Given the description of an element on the screen output the (x, y) to click on. 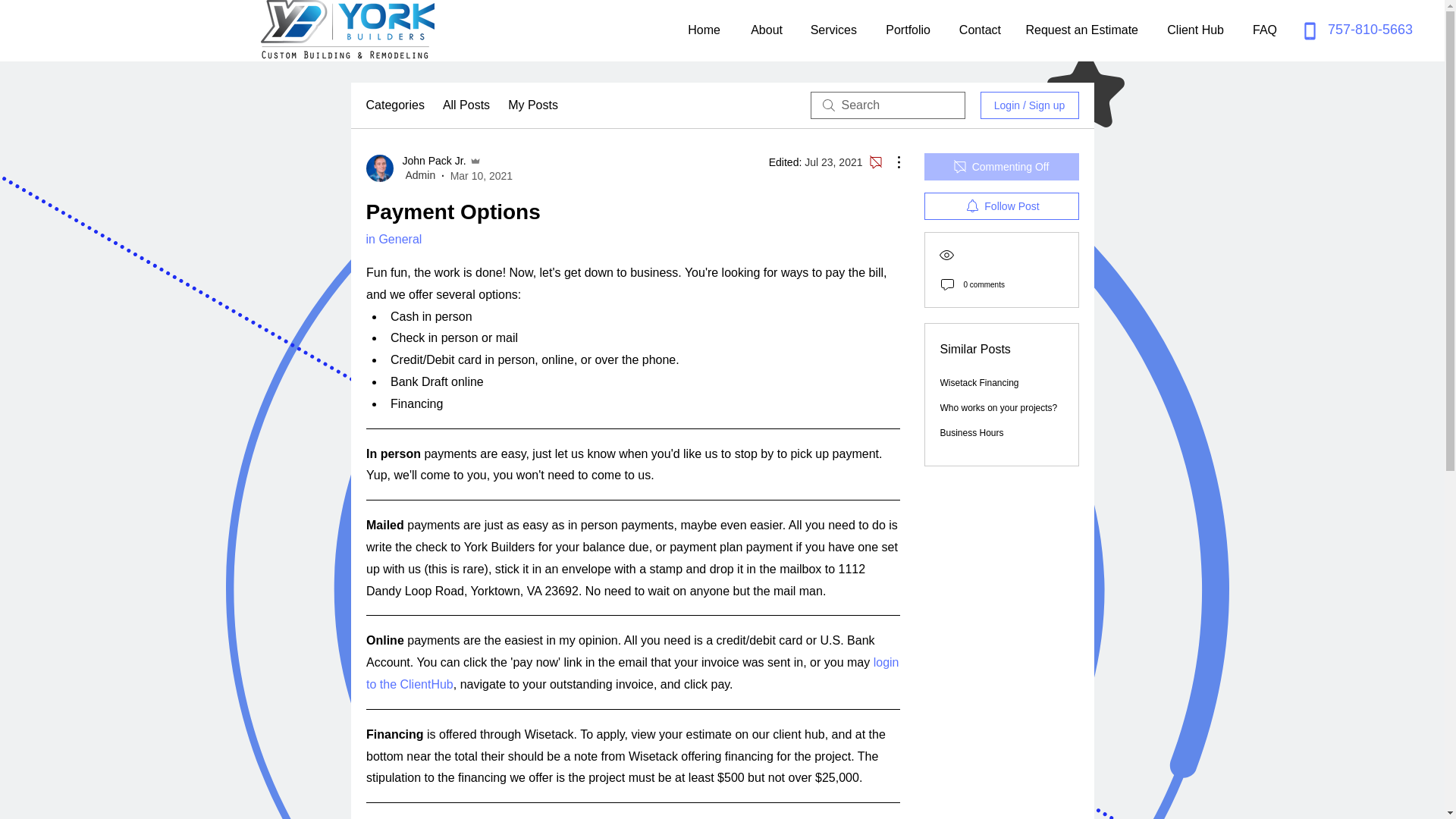
Services (830, 29)
My Posts (532, 105)
Business Hours (972, 432)
in General (393, 238)
Follow Post (1000, 206)
Home (700, 29)
Who works on your projects? (999, 407)
Contact (976, 29)
757-810-5663 (1369, 29)
Portfolio (904, 29)
